Given the description of an element on the screen output the (x, y) to click on. 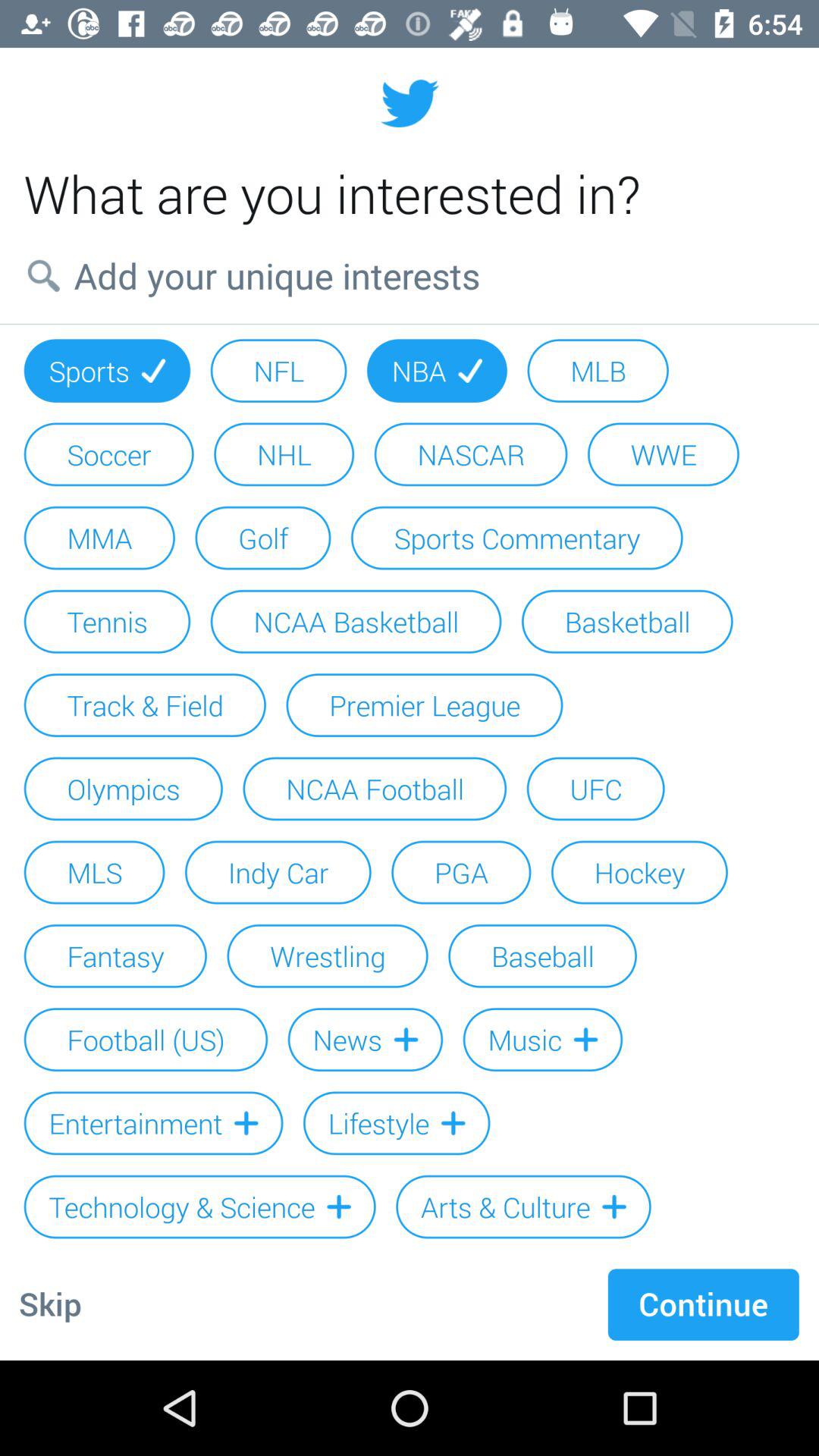
click icon to the right of the ncaa football item (595, 788)
